Given the description of an element on the screen output the (x, y) to click on. 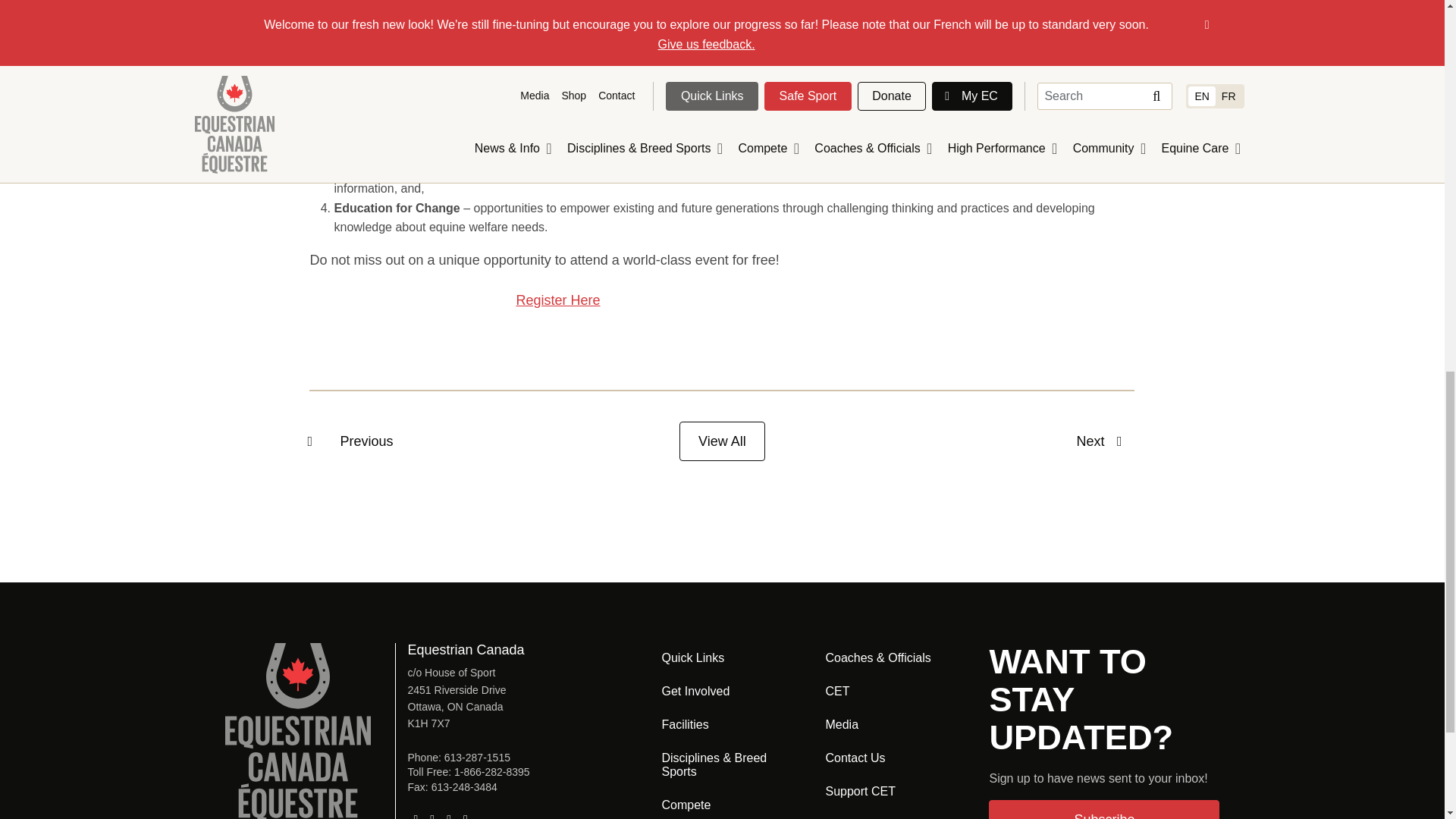
Equestrian Canada Facebook (416, 813)
Equestrian Canada Twitter (449, 813)
Equestrian Canada Youtube (465, 813)
Equestrian Canada Instagram (432, 813)
